Given the description of an element on the screen output the (x, y) to click on. 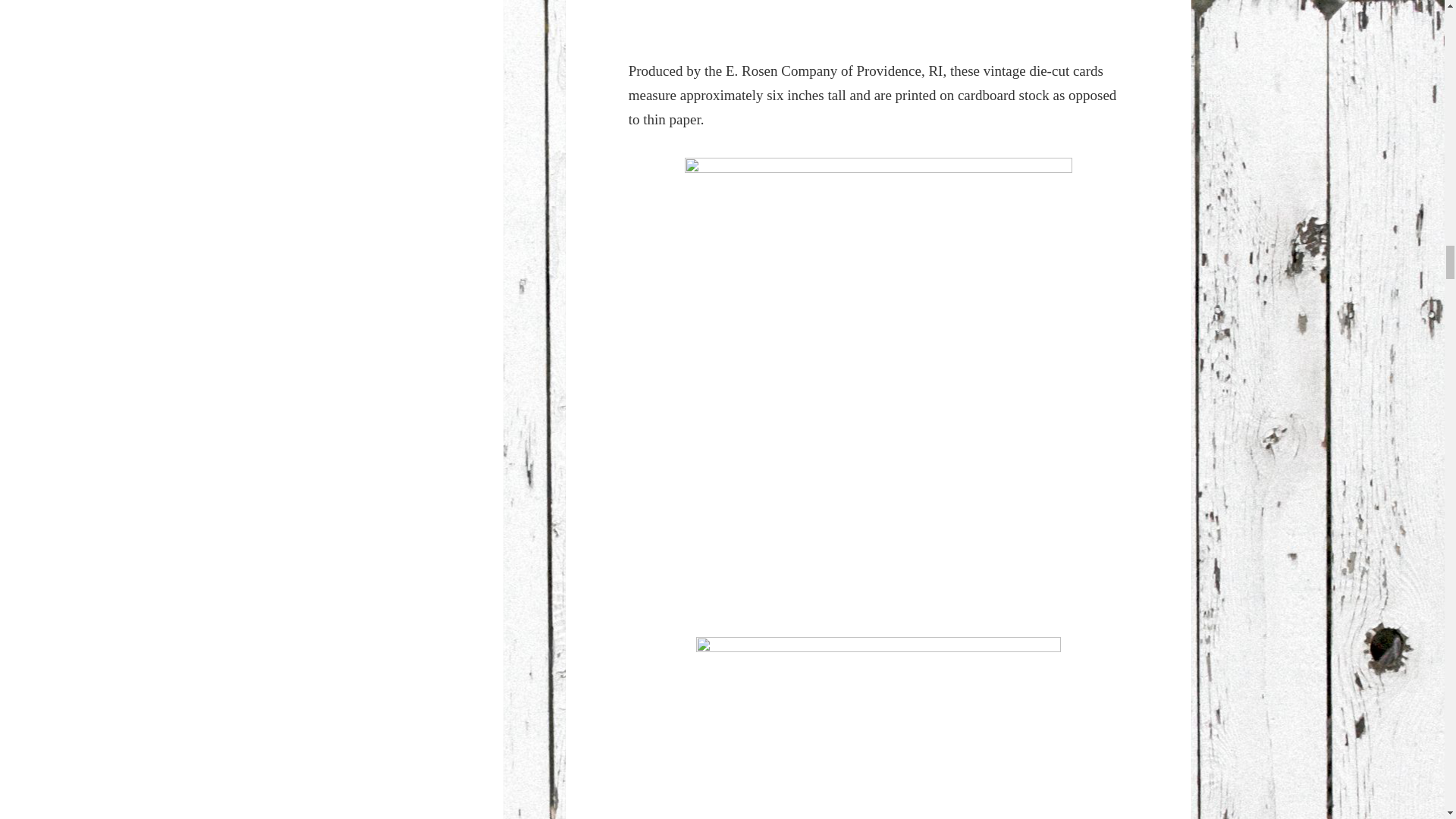
vintage rosen paper valentine greeting card (877, 17)
vintage sucker rosen valentine artist (878, 727)
